Given the description of an element on the screen output the (x, y) to click on. 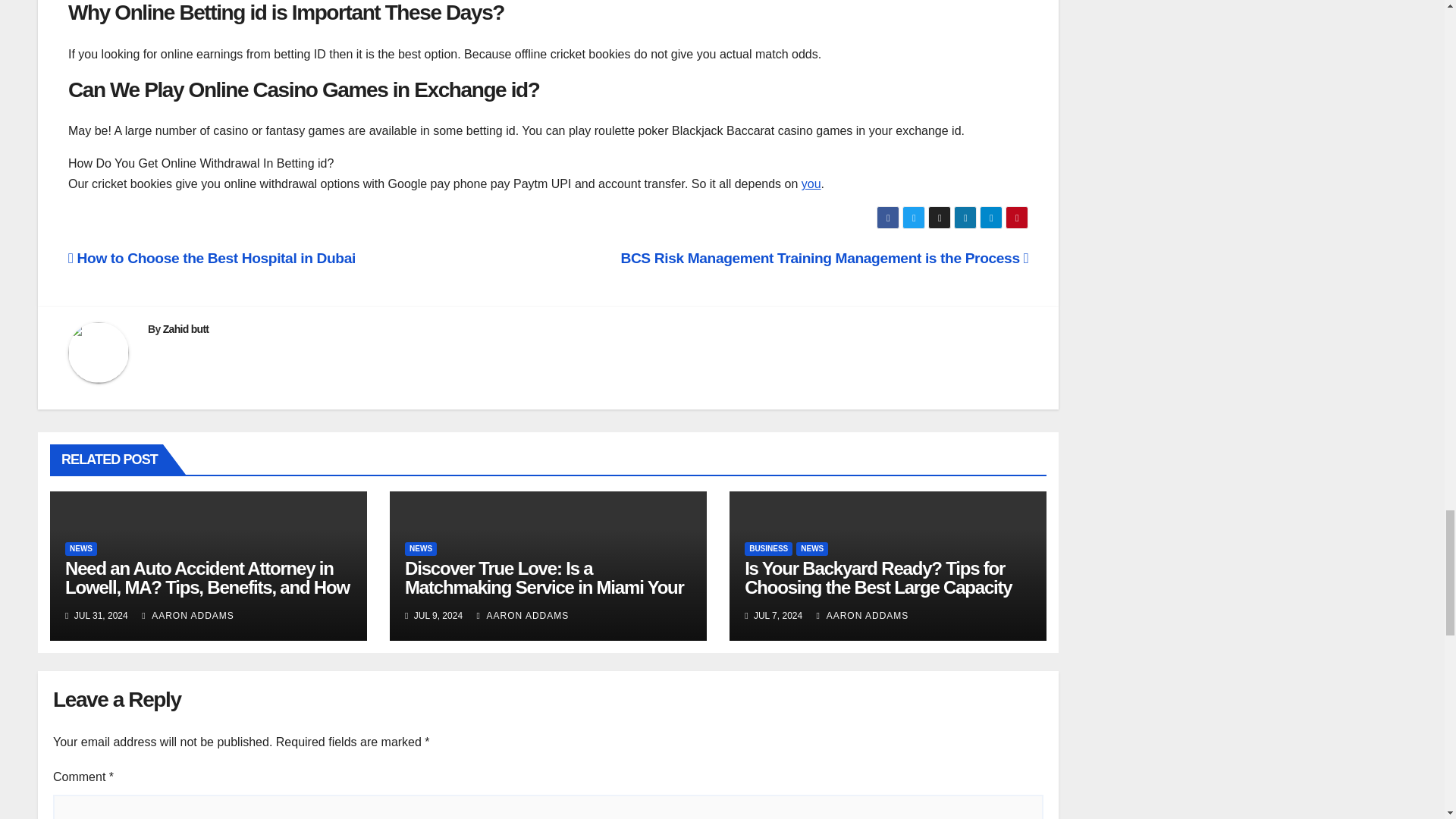
you (811, 183)
AARON ADDAMS (187, 615)
NEWS (81, 549)
BCS Risk Management Training Management is the Process (823, 258)
Zahid butt (186, 328)
How to Choose the Best Hospital in Dubai (211, 258)
